Given the description of an element on the screen output the (x, y) to click on. 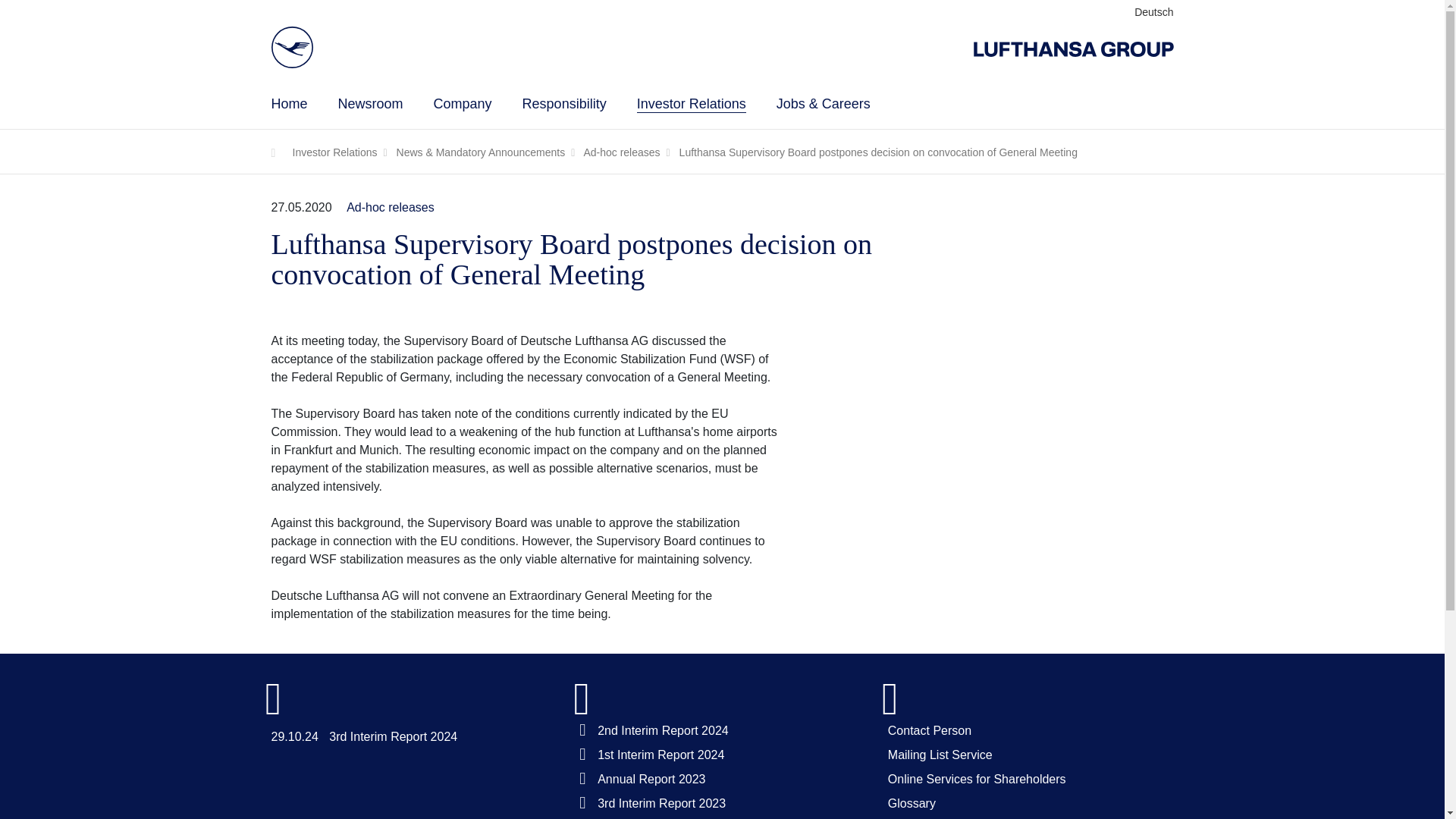
Newsroom (370, 103)
Company (462, 103)
Deutsch (1153, 11)
Home (288, 103)
Home (288, 103)
Investor Relations (691, 103)
Responsibility (564, 103)
Investor Relations (691, 103)
Responsibility (564, 103)
Company (462, 103)
